Given the description of an element on the screen output the (x, y) to click on. 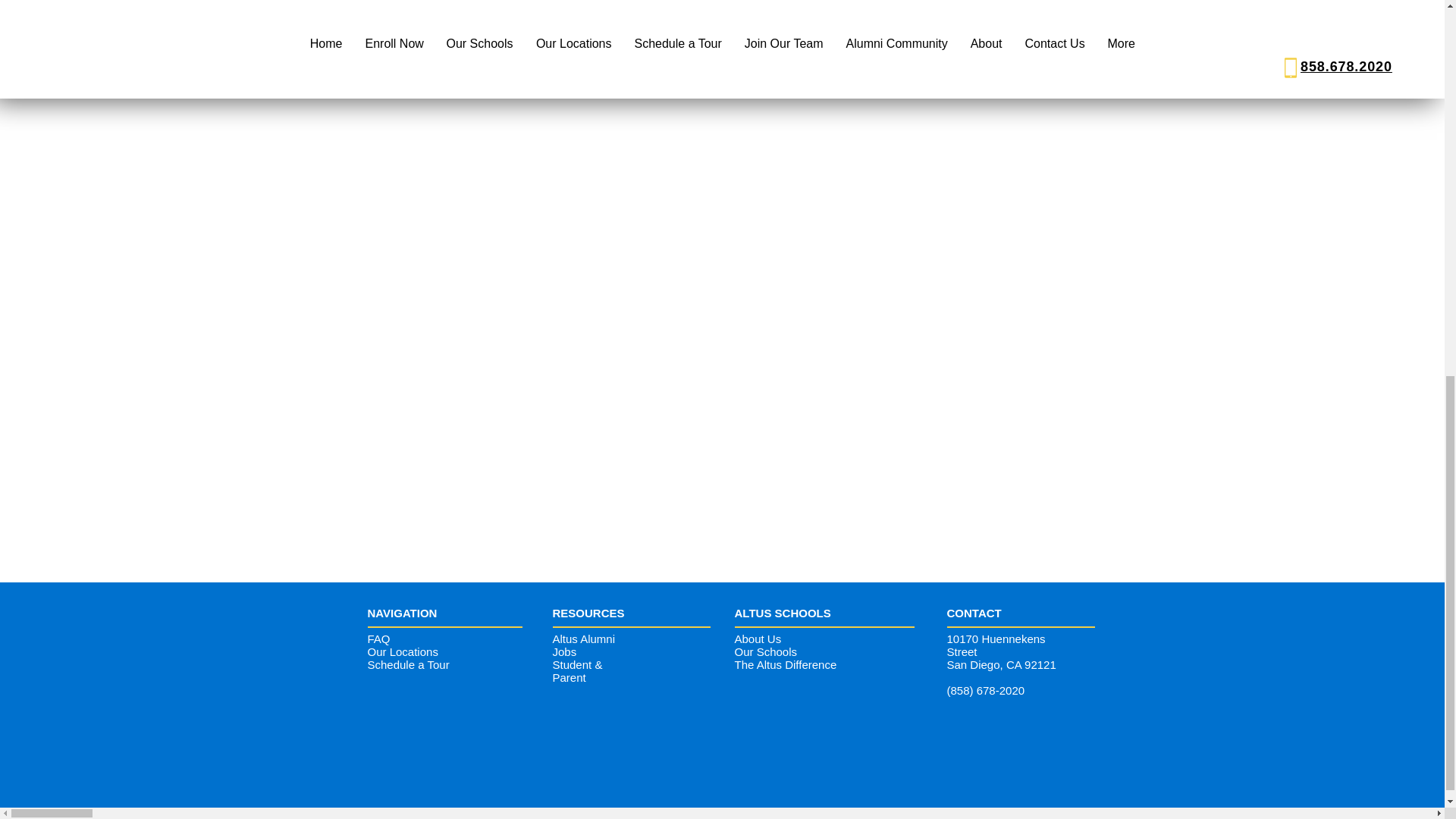
Our Locations (402, 650)
Schedule a Tour (407, 664)
FAQ (378, 638)
Our Schools (764, 650)
Altus Alumni (582, 638)
Jobs (563, 650)
The Altus Difference (784, 664)
About Us (756, 638)
